Given the description of an element on the screen output the (x, y) to click on. 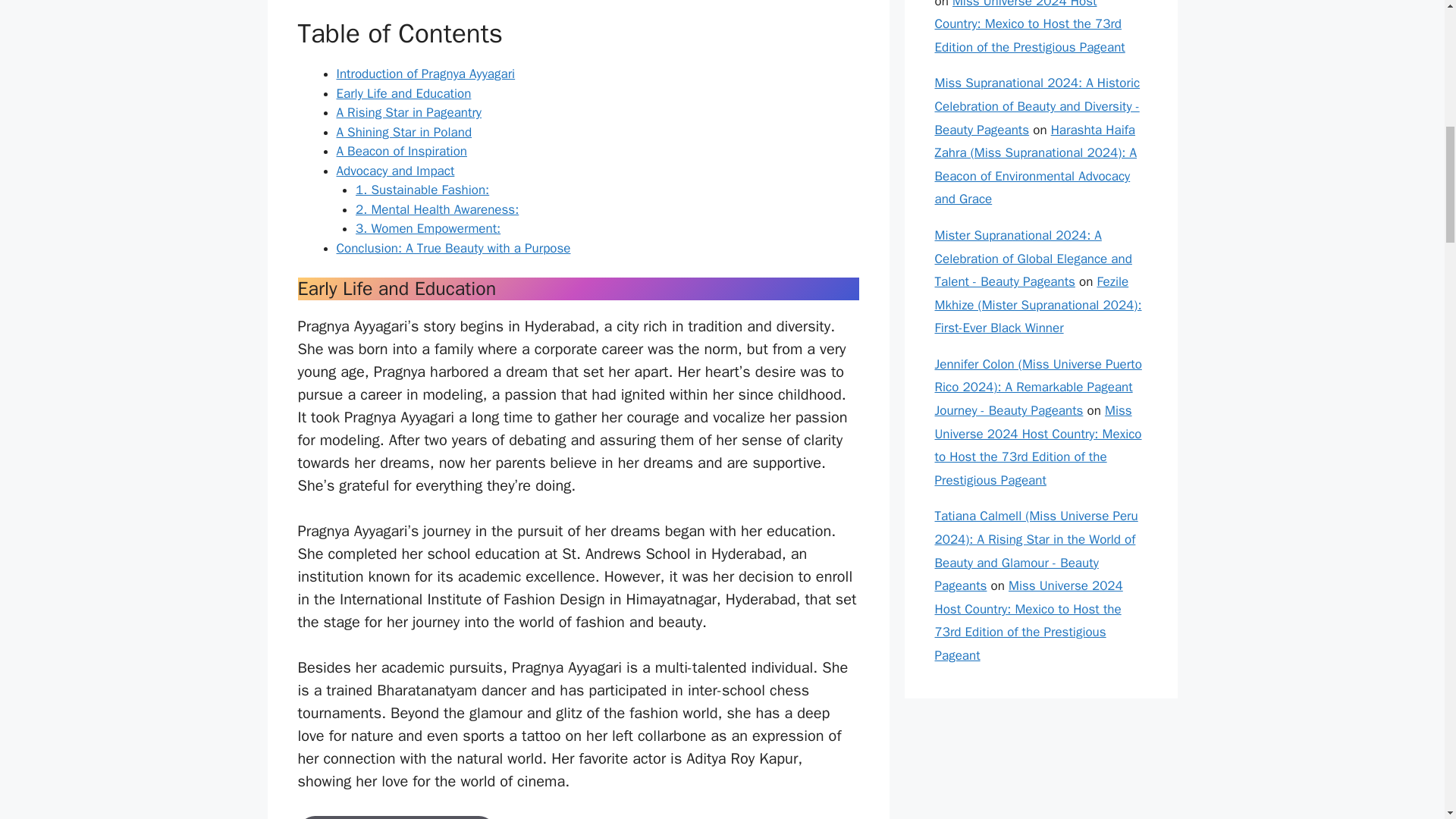
1. Sustainable Fashion: (422, 189)
Conclusion: A True Beauty with a Purpose (453, 248)
Advocacy and Impact (395, 170)
Introduction of Pragnya Ayyagari (425, 73)
2. Mental Health Awareness: (436, 209)
A Shining Star in Poland (403, 132)
3. Women Empowerment: (427, 228)
A Rising Star in Pageantry (408, 112)
Instagram of Pragnya Ayyagari (396, 817)
A Beacon of Inspiration (401, 150)
Early Life and Education (403, 93)
